Given the description of an element on the screen output the (x, y) to click on. 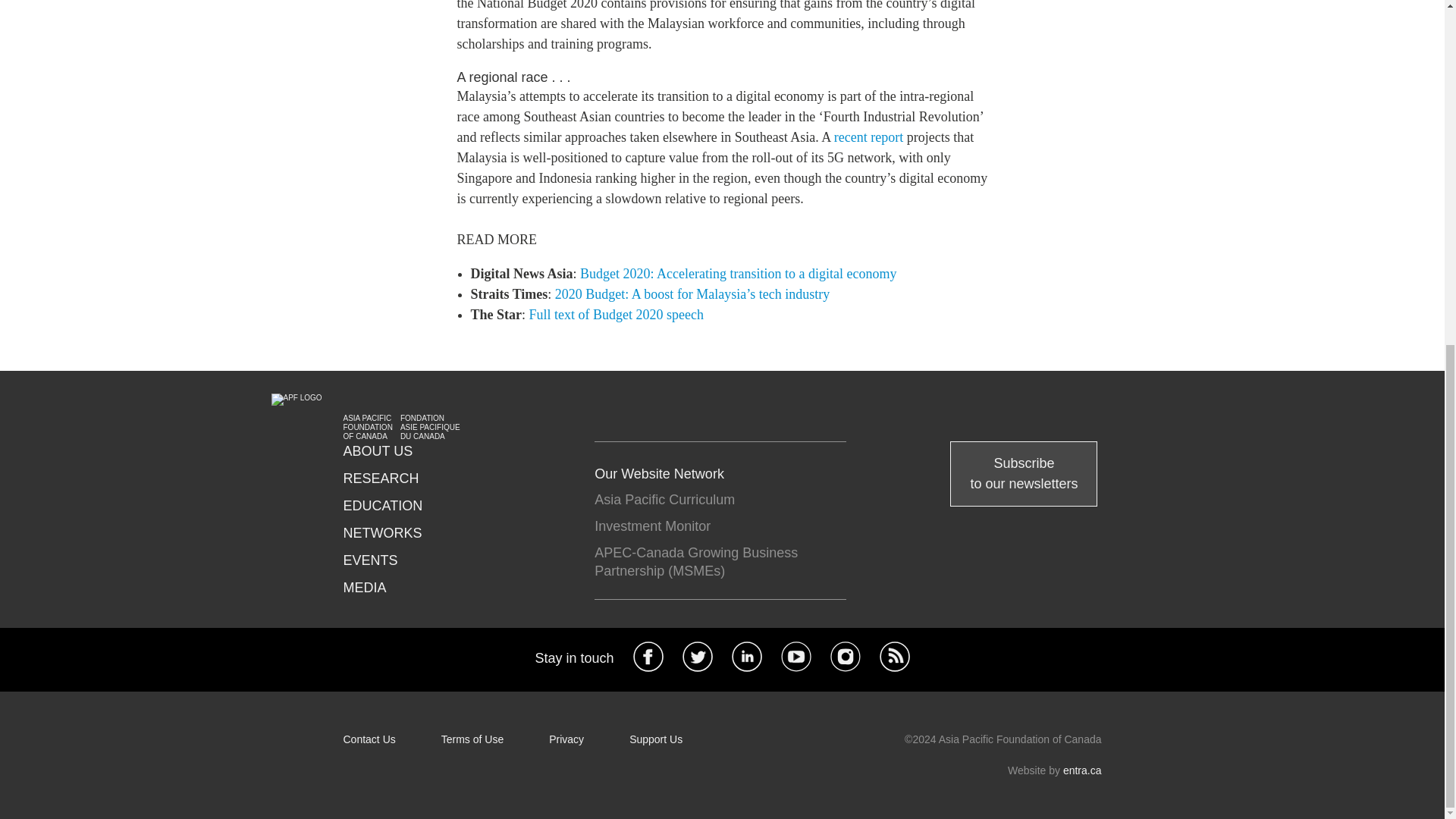
Report (868, 136)
